Given the description of an element on the screen output the (x, y) to click on. 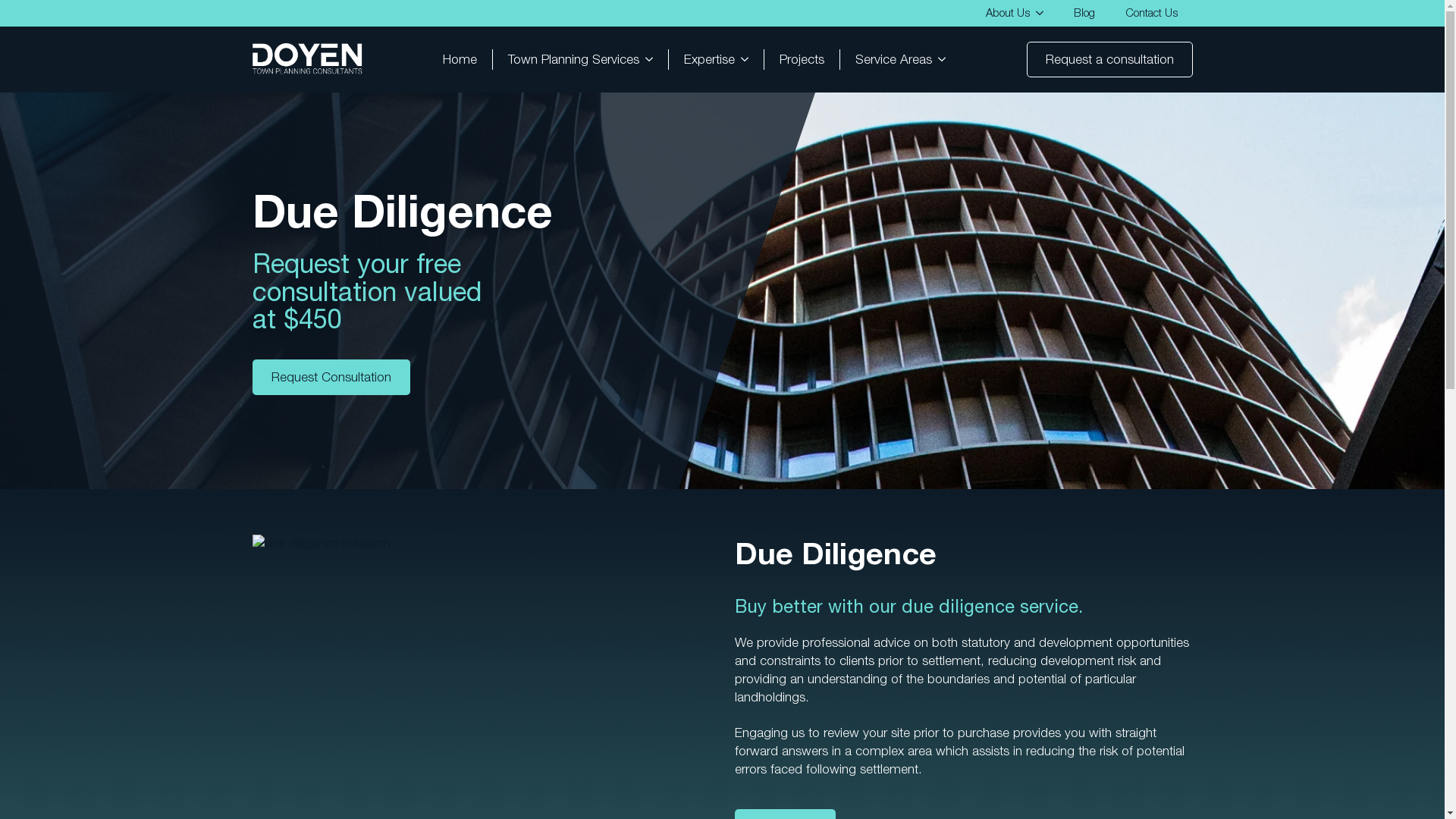
Contact Us Element type: text (1151, 13)
Service Areas Element type: text (885, 59)
Request a consultation Element type: text (1109, 59)
Projects Element type: text (801, 59)
Blog Element type: text (1084, 13)
Request Consultation Element type: text (330, 377)
Home Element type: text (459, 59)
Expertise Element type: text (701, 59)
About Us Element type: text (999, 13)
Town Planning Services Element type: text (565, 59)
